Given the description of an element on the screen output the (x, y) to click on. 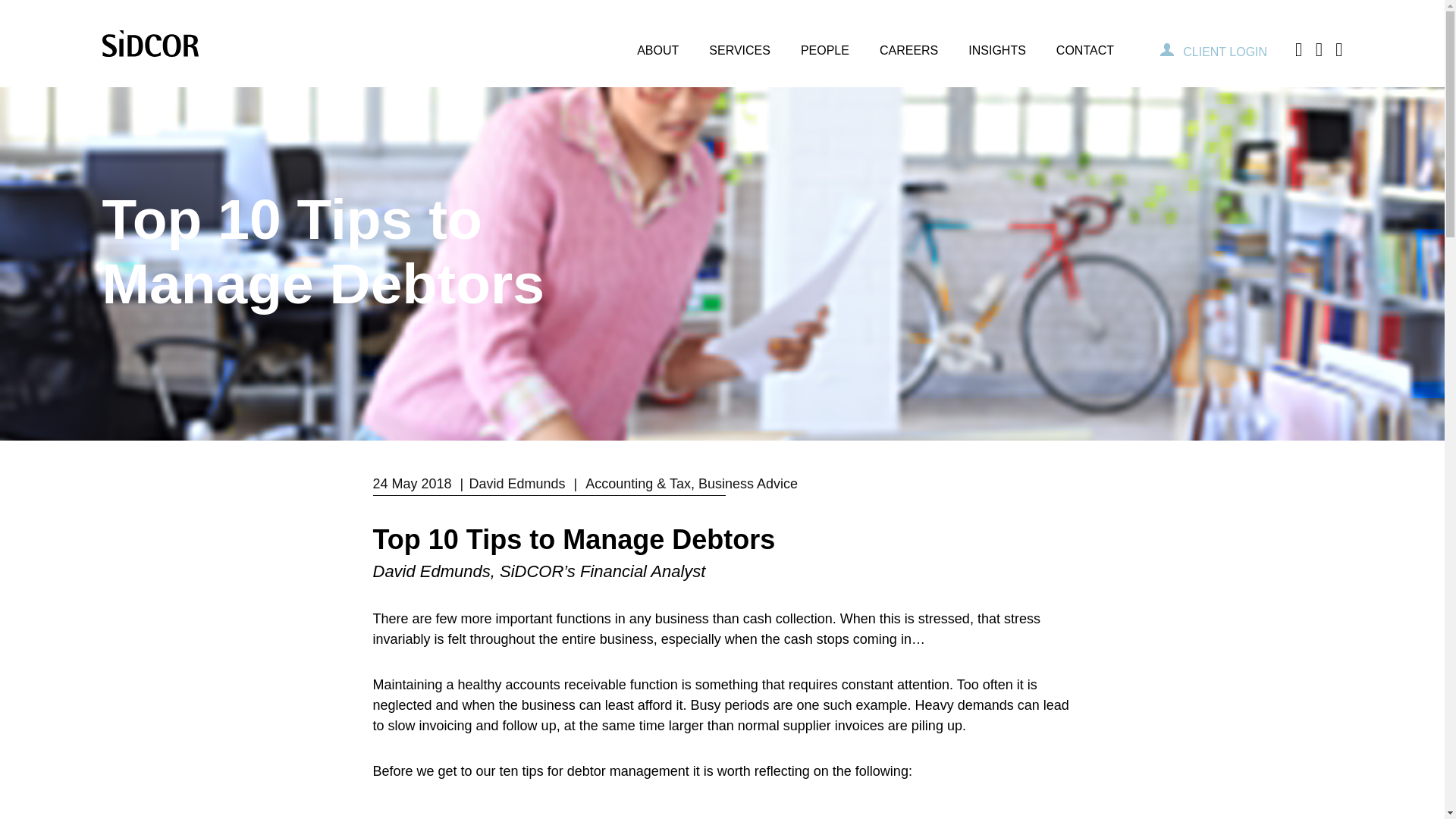
PEOPLE (825, 43)
INSIGHTS (997, 43)
CLIENT LOGIN (1213, 51)
SERVICES (740, 43)
CONTACT (1085, 43)
CAREERS (908, 43)
Business Advice (747, 483)
David Edmunds (516, 483)
